Given the description of an element on the screen output the (x, y) to click on. 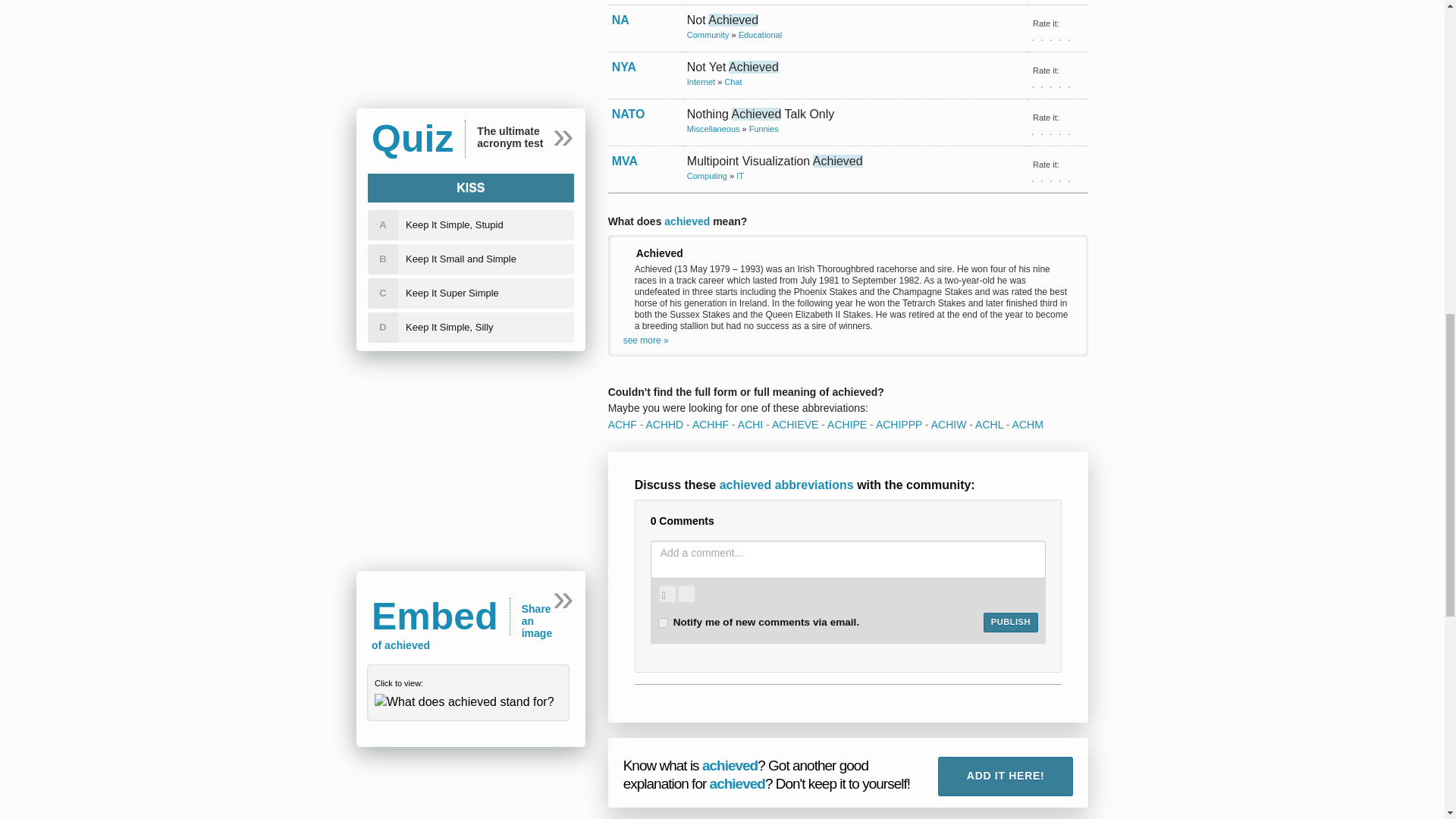
Record a sound (686, 593)
on (663, 623)
Upload an image (667, 593)
